Given the description of an element on the screen output the (x, y) to click on. 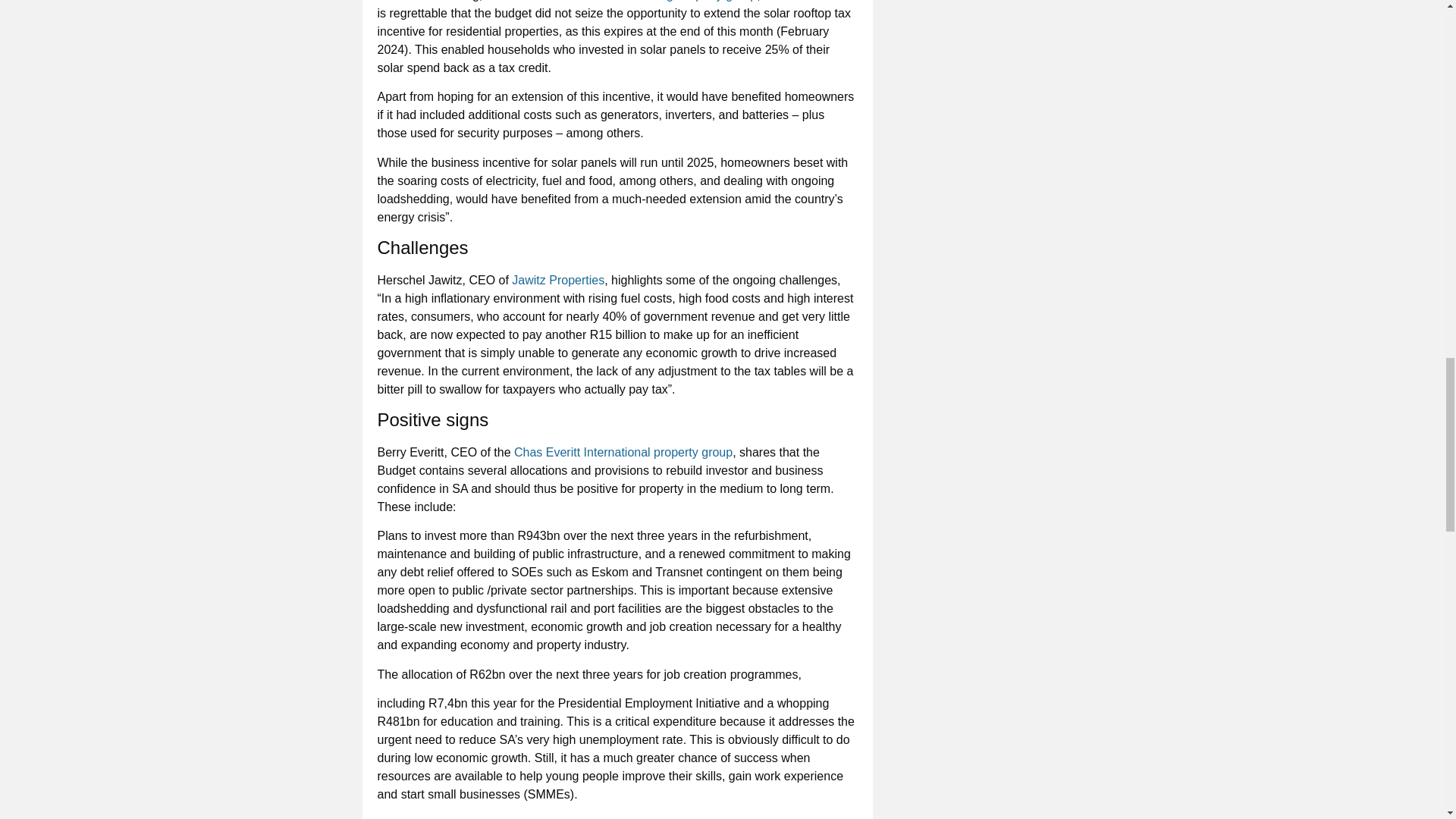
Jawitz Properties (558, 279)
Chas Everitt International property group (622, 451)
